Given the description of an element on the screen output the (x, y) to click on. 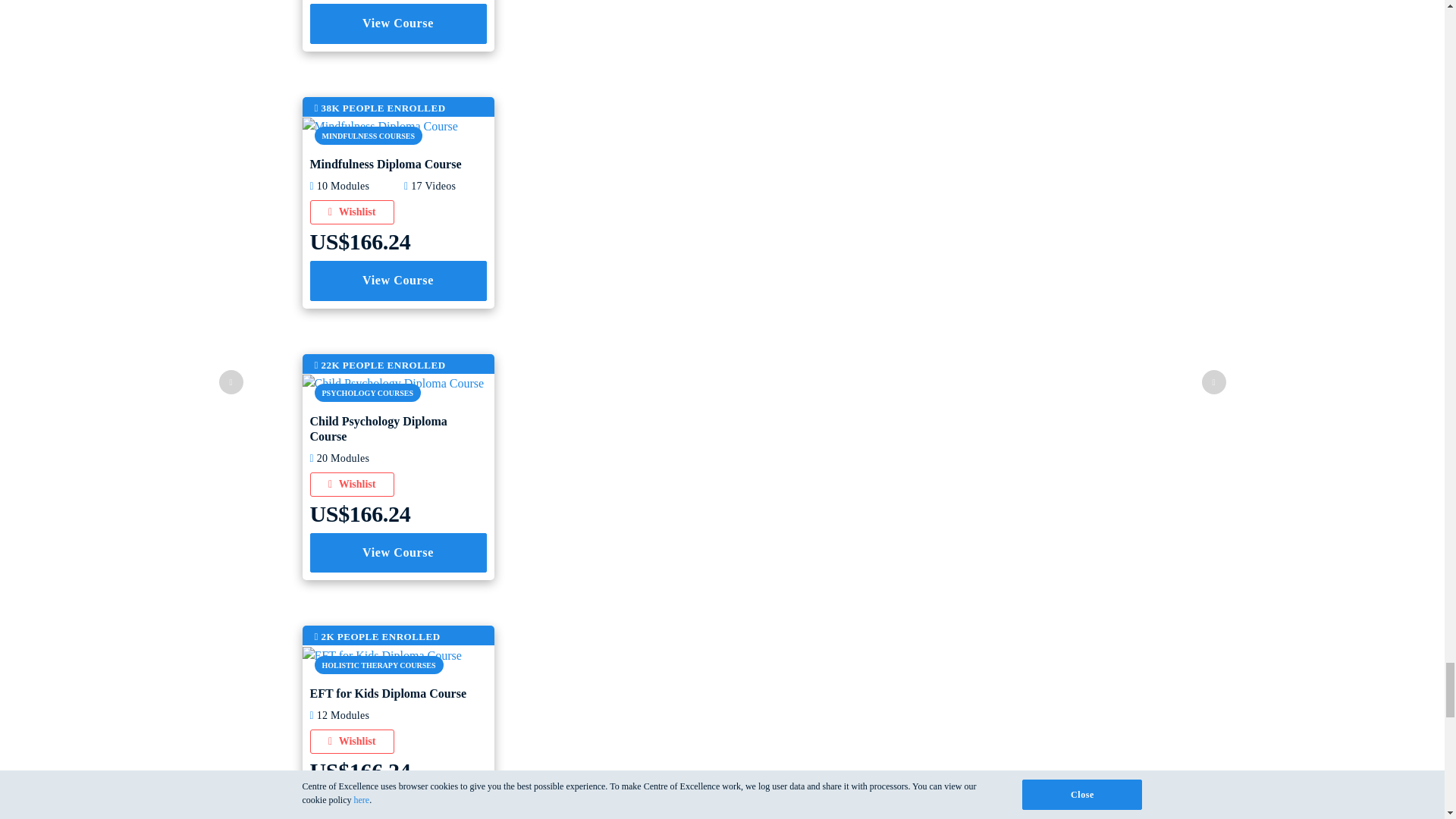
Child Psychology Diploma Course (392, 382)
Mindfulness Diploma Course (379, 124)
EFT for Kids Diploma Course (381, 653)
